Given the description of an element on the screen output the (x, y) to click on. 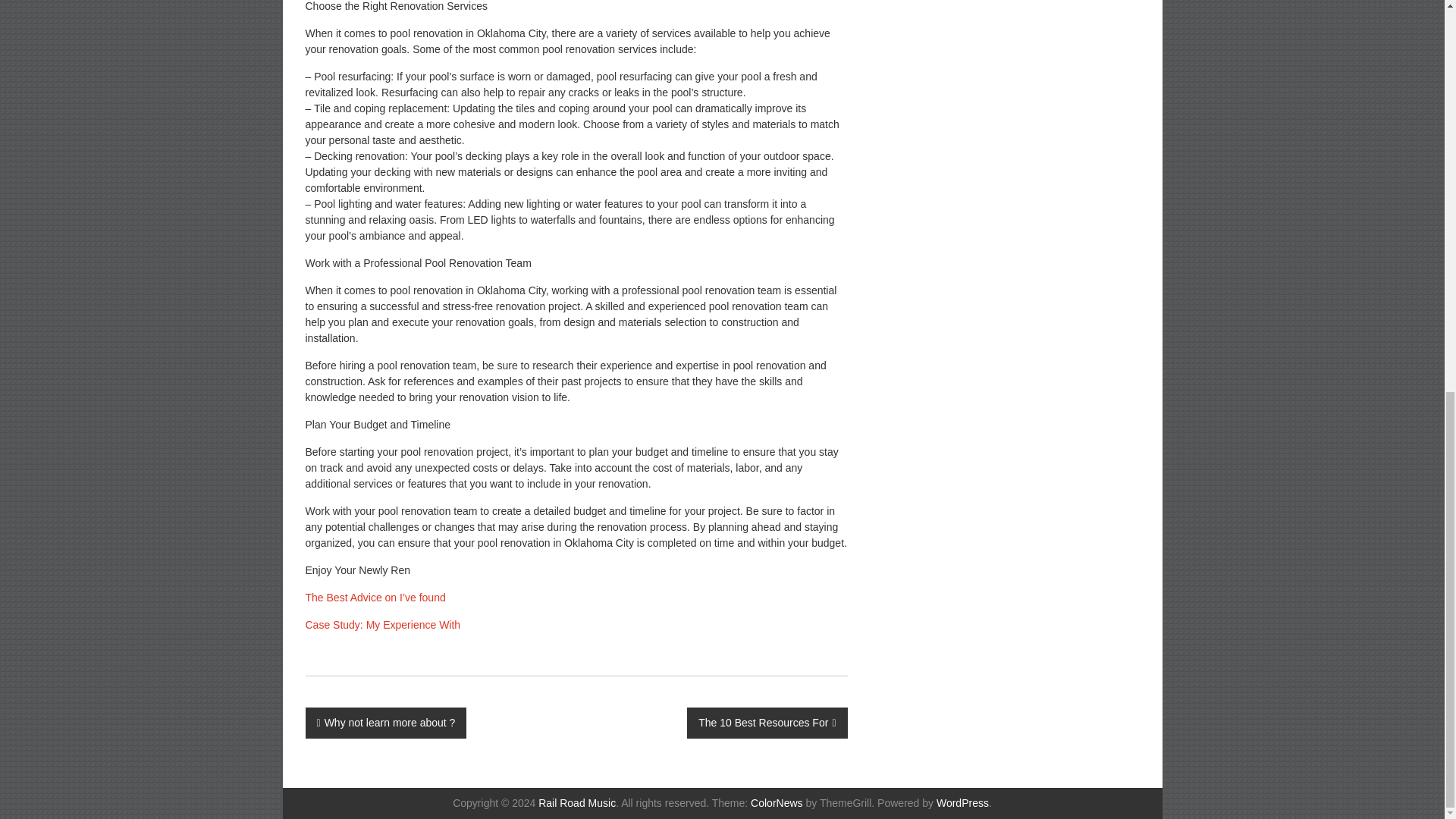
WordPress (962, 802)
Why not learn more about ? (384, 722)
Case Study: My Experience With (382, 624)
ColorNews (776, 802)
Rail Road Music (576, 802)
Rail Road Music (576, 802)
ColorNews (776, 802)
The 10 Best Resources For (767, 722)
WordPress (962, 802)
